Given the description of an element on the screen output the (x, y) to click on. 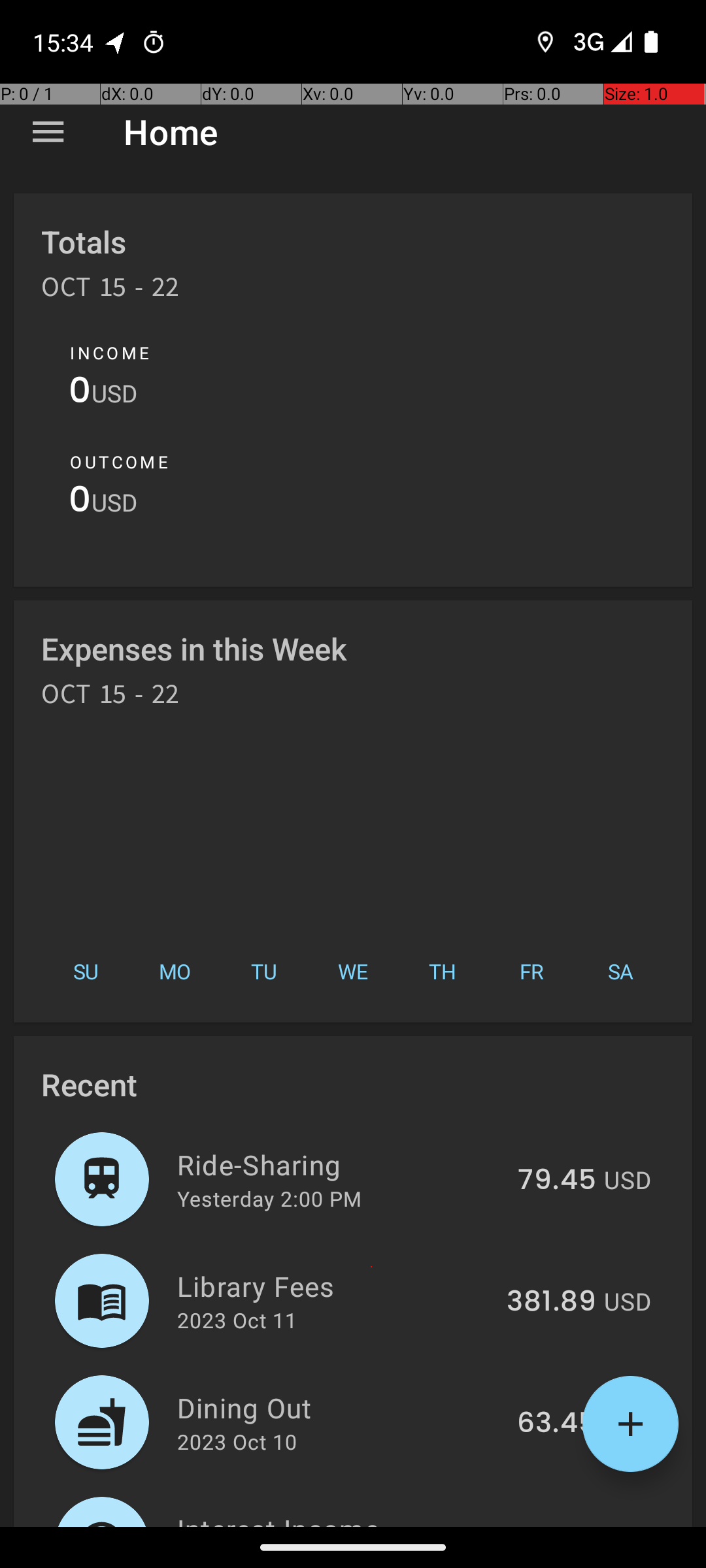
Yesterday 2:00 PM Element type: android.widget.TextView (269, 1198)
79.45 Element type: android.widget.TextView (556, 1180)
381.89 Element type: android.widget.TextView (550, 1301)
Dining Out Element type: android.widget.TextView (339, 1407)
63.45 Element type: android.widget.TextView (556, 1423)
Interest Income Element type: android.widget.TextView (330, 1518)
368.86 Element type: android.widget.TextView (547, 1524)
